Given the description of an element on the screen output the (x, y) to click on. 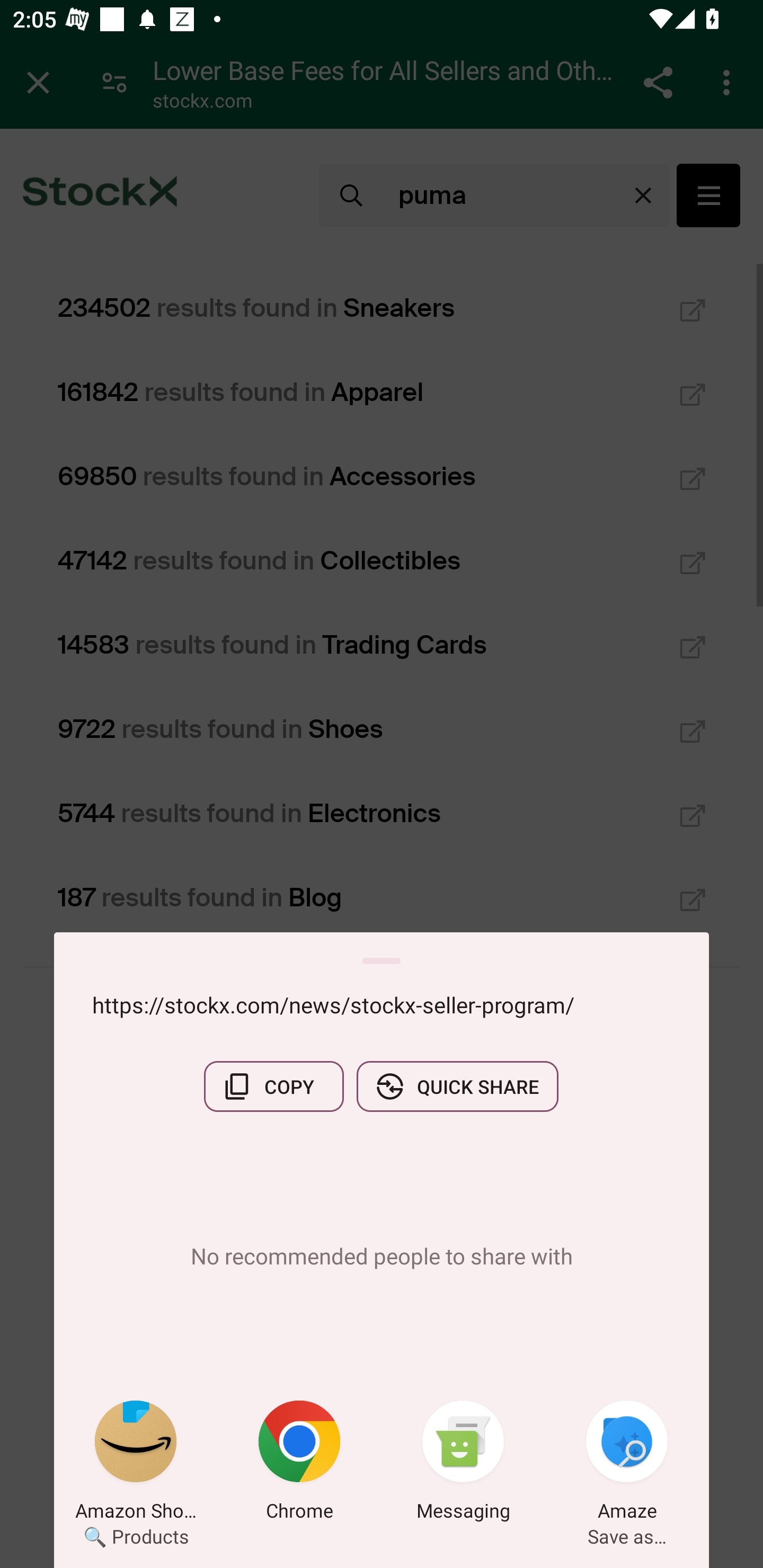
COPY (273, 1086)
QUICK SHARE (457, 1086)
Amazon Shopping 🔍 Products (135, 1463)
Chrome (299, 1463)
Messaging (463, 1463)
Amaze Save as… (626, 1463)
